Given the description of an element on the screen output the (x, y) to click on. 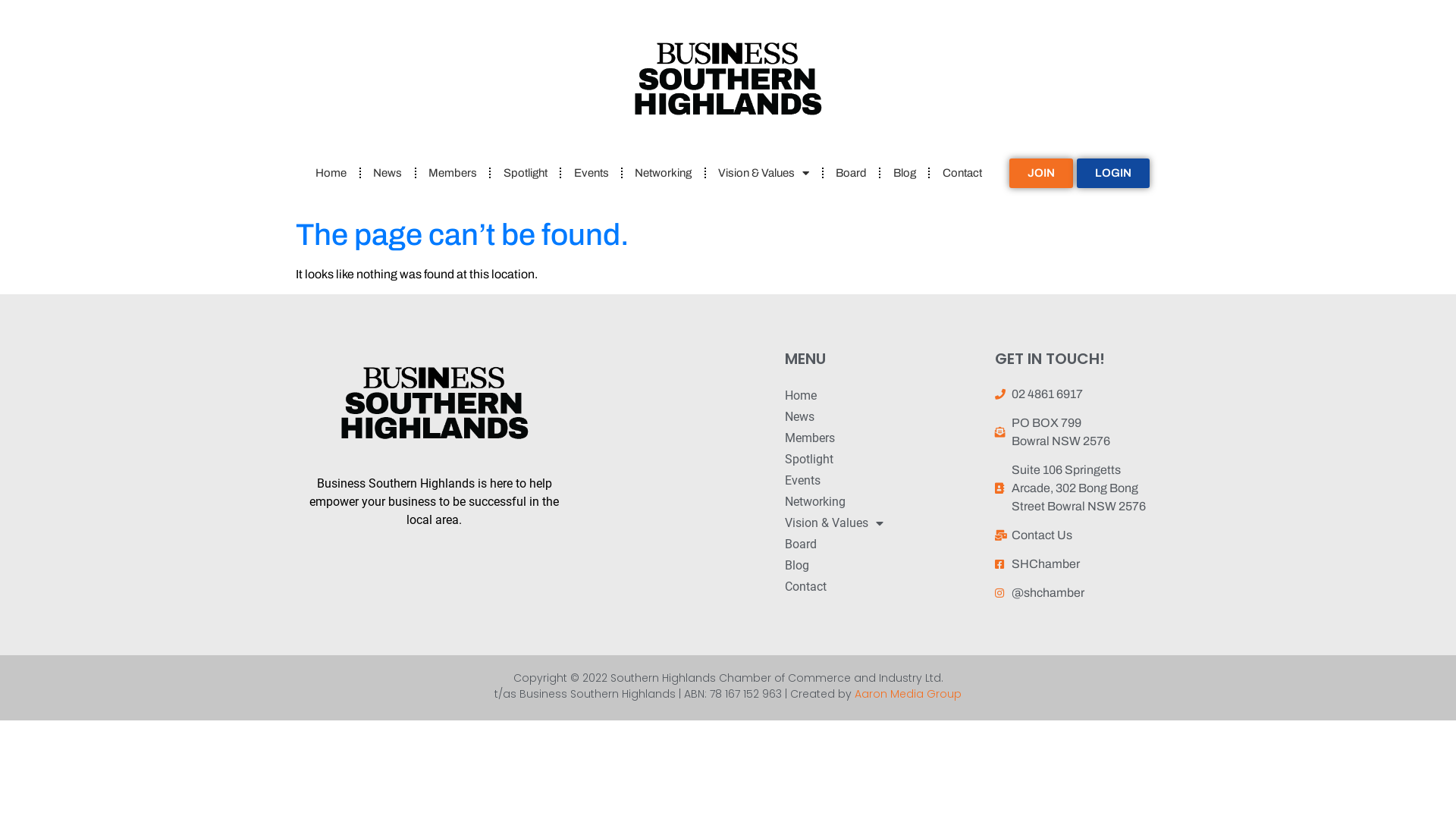
Aaron Media Group Element type: text (907, 693)
Blog Element type: text (881, 565)
Home Element type: text (881, 395)
Events Element type: text (591, 172)
Networking Element type: text (881, 501)
Contact Element type: text (961, 172)
Members Element type: text (881, 437)
LOGIN Element type: text (1112, 173)
Board Element type: text (851, 172)
Blog Element type: text (904, 172)
Contact Element type: text (881, 586)
Spotlight Element type: text (881, 459)
Vision & Values Element type: text (764, 172)
Spotlight Element type: text (524, 172)
Board Element type: text (881, 544)
Vision & Values Element type: text (881, 522)
Members Element type: text (452, 172)
JOIN Element type: text (1041, 173)
Home Element type: text (331, 172)
News Element type: text (881, 416)
Networking Element type: text (663, 172)
Events Element type: text (881, 480)
News Element type: text (387, 172)
